Given the description of an element on the screen output the (x, y) to click on. 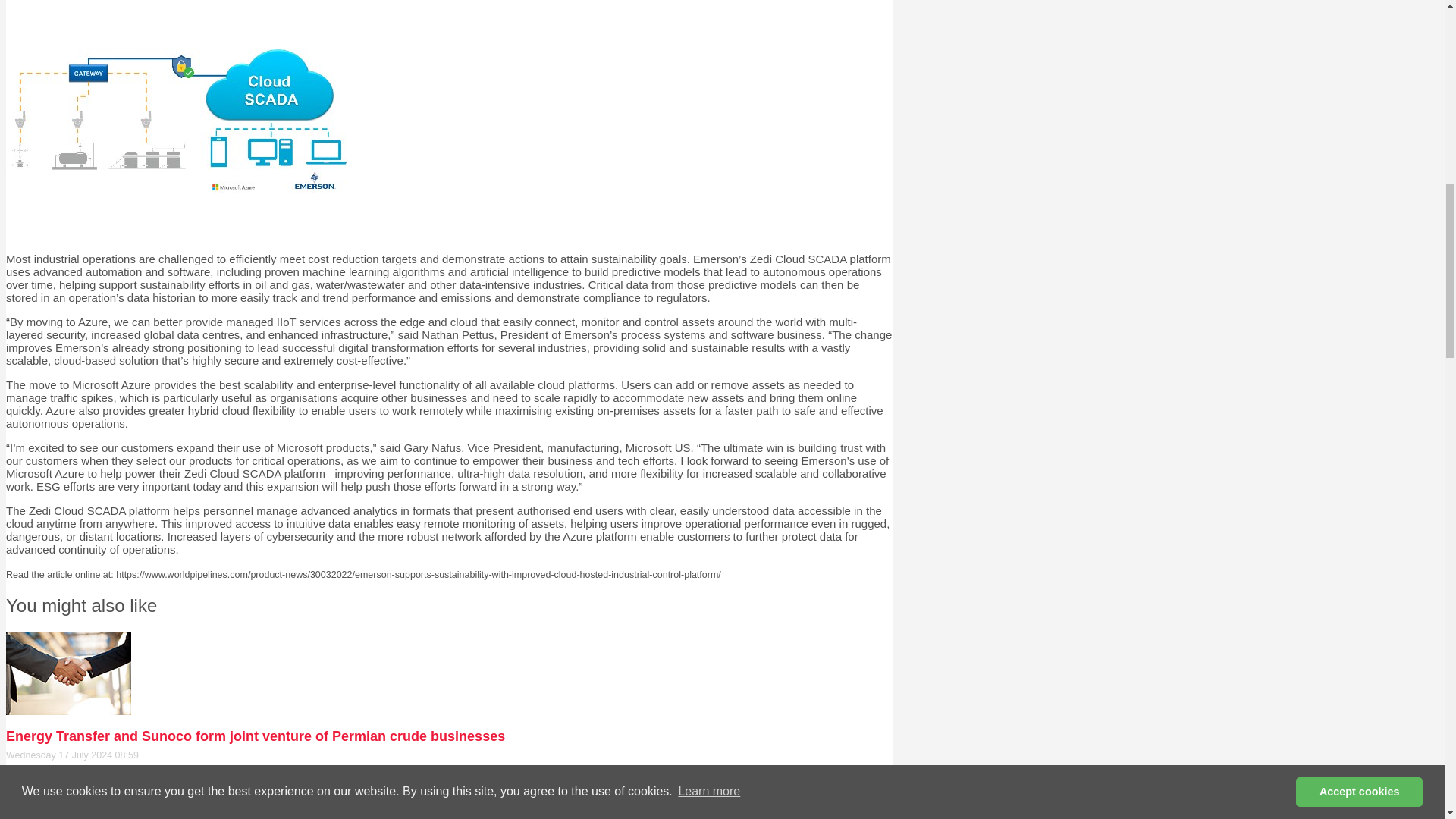
Embed (68, 816)
